Given the description of an element on the screen output the (x, y) to click on. 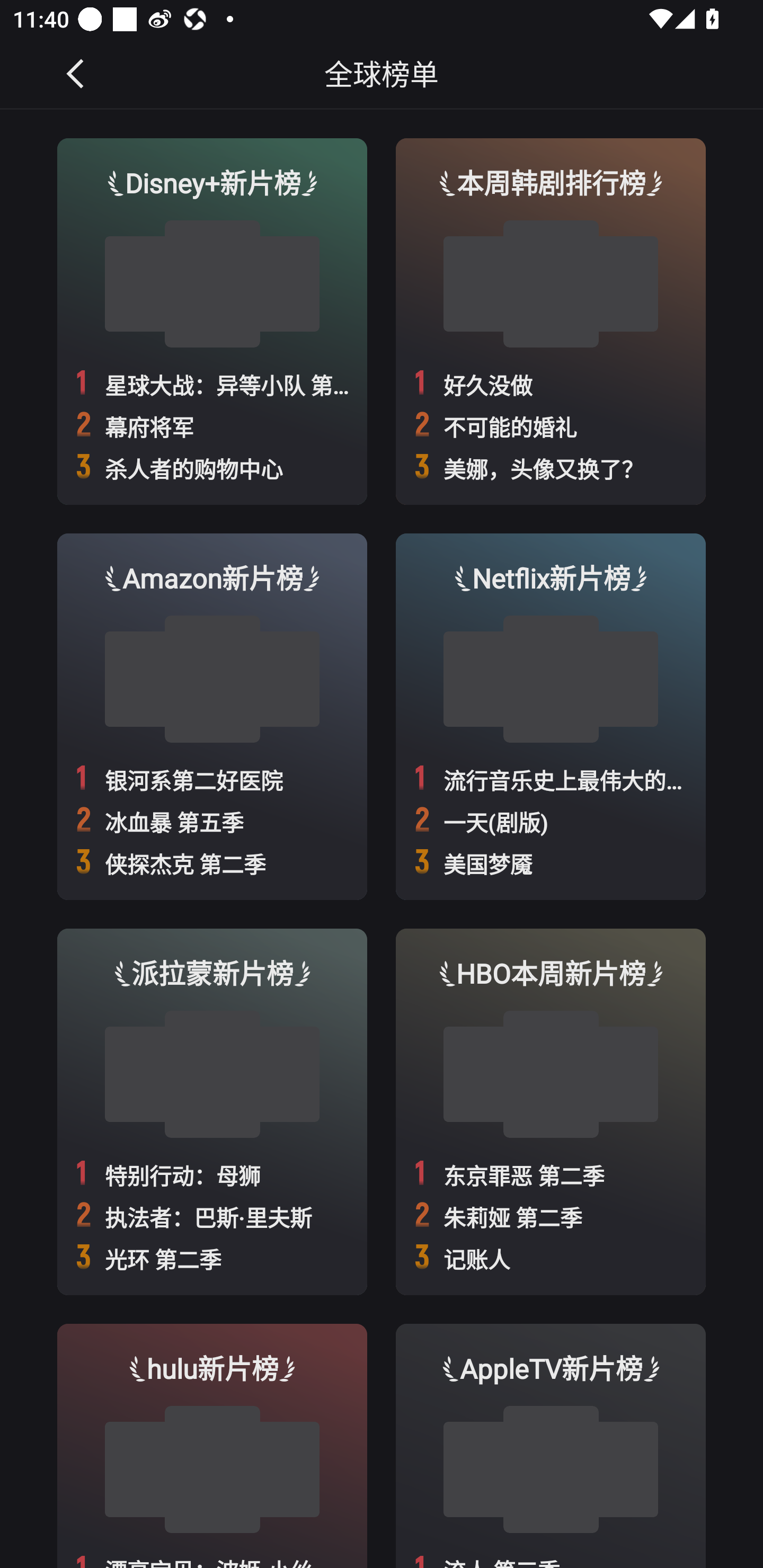
全球榜单 (381, 72)
 返回 (76, 72)
 Disney+新片榜  1 星球大战：异等小队 第三季 2 幕府将军 3 杀人者的购物中心 (212, 320)
 本周韩剧排行榜  1 好久没做 2 不可能的婚礼 3 美娜，头像又换了？ (550, 320)
1 星球大战：异等小队 第三季 (212, 383)
1 好久没做 (550, 383)
2 幕府将军 (212, 425)
2 不可能的婚礼 (550, 425)
3 杀人者的购物中心 (212, 467)
3 美娜，头像又换了？ (550, 467)
 Amazon新片榜  1 银河系第二好医院 2 冰血暴 第五季 3 侠探杰克 第二季 (212, 716)
 Netflix新片榜  1 流行音乐史上最伟大的夜晚 2 一天(剧版) 3 美国梦魇 (550, 716)
1 银河系第二好医院 (212, 778)
1 流行音乐史上最伟大的夜晚 (550, 778)
2 冰血暴 第五季 (212, 820)
2 一天(剧版) (550, 820)
3 侠探杰克 第二季 (212, 863)
3 美国梦魇 (550, 863)
 派拉蒙新片榜  1 特别行动：母狮 2 执法者：巴斯·里夫斯 3 光环 第二季 (212, 1111)
 HBO本周新片榜  1 东京罪恶 第二季 2 朱莉娅 第二季 3 记账人 (550, 1111)
1 特别行动：母狮 (212, 1174)
1 东京罪恶 第二季 (550, 1174)
2 执法者：巴斯·里夫斯 (212, 1215)
2 朱莉娅 第二季 (550, 1215)
3 光环 第二季 (212, 1258)
3 记账人 (550, 1258)
 hulu新片榜  1 漂亮宝贝：波姬·小丝 (212, 1445)
 AppleTV新片榜  1 流人 第三季 (550, 1445)
